Given the description of an element on the screen output the (x, y) to click on. 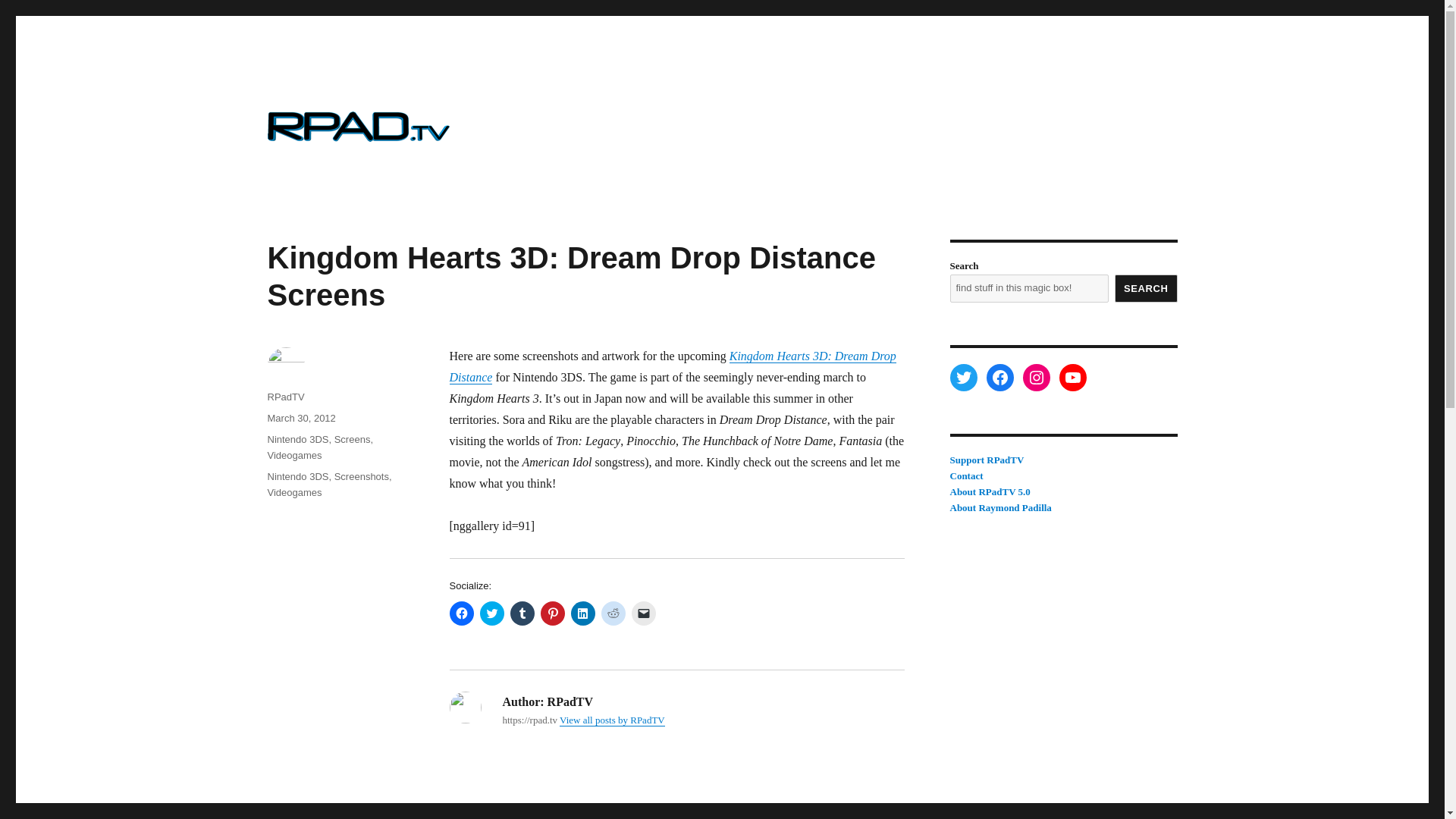
Click to share on Reddit (611, 613)
Twitter (962, 377)
YouTube (1072, 377)
RPad.TV (309, 178)
Videogames (293, 455)
About Raymond Padilla (1000, 507)
Instagram (1035, 377)
March 30, 2012 (300, 418)
Click to share on Tumblr (521, 613)
Click to share on Facebook (460, 613)
